Given the description of an element on the screen output the (x, y) to click on. 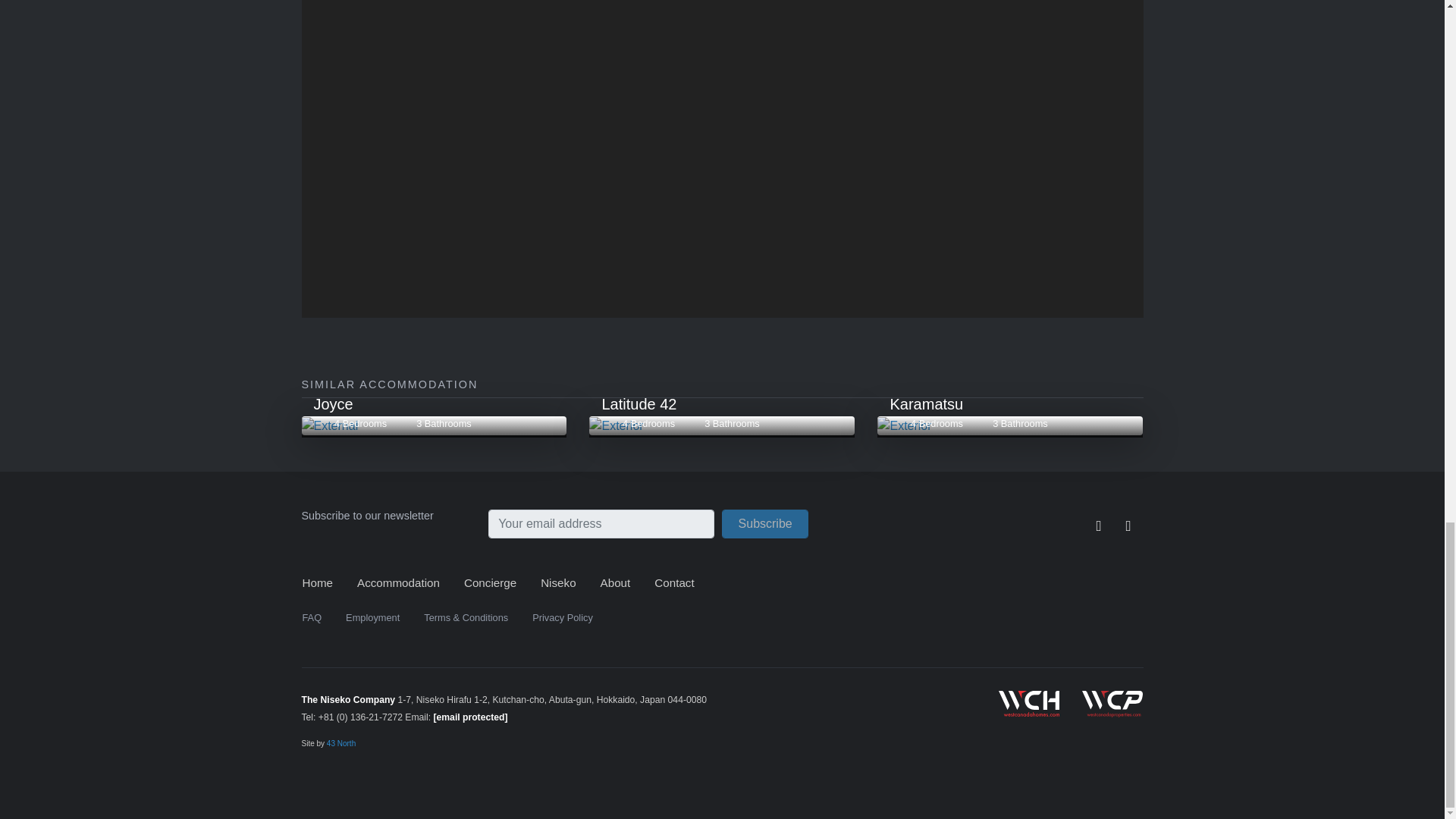
Subscribe (765, 523)
Home (721, 425)
